Given the description of an element on the screen output the (x, y) to click on. 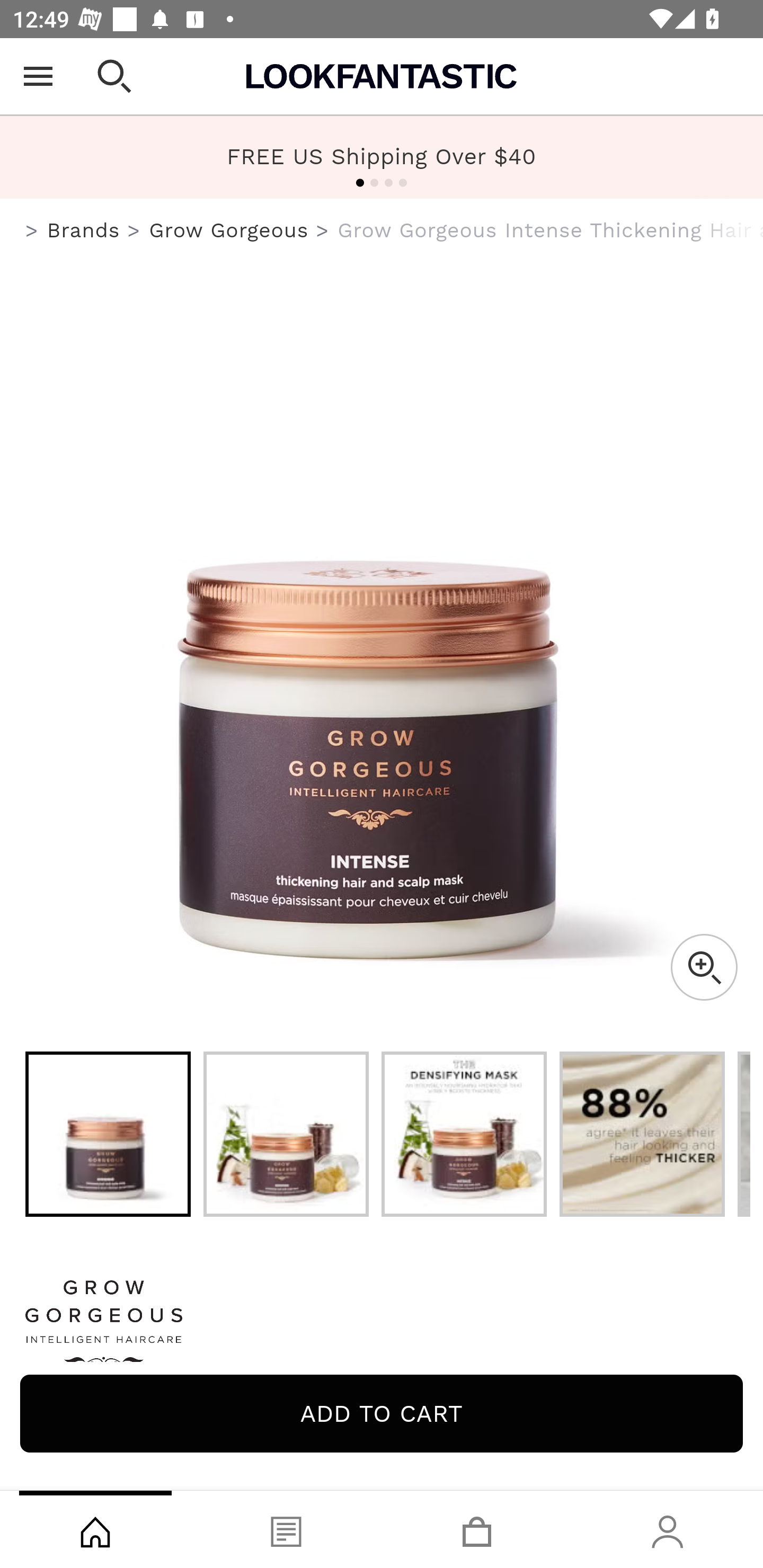
Open Menu (38, 75)
Open search (114, 75)
Lookfantastic USA (381, 75)
FREE US Shipping Over $40 (381, 157)
FREE US Shipping Over $40 (381, 155)
us.lookfantastic (32, 230)
Brands (82, 230)
Grow Gorgeous (228, 230)
Zoom (703, 966)
Grow Gorgeous (381, 1327)
Add to cart (381, 1413)
Shop, tab, 1 of 4 (95, 1529)
Blog, tab, 2 of 4 (285, 1529)
Basket, tab, 3 of 4 (476, 1529)
Account, tab, 4 of 4 (667, 1529)
